Given the description of an element on the screen output the (x, y) to click on. 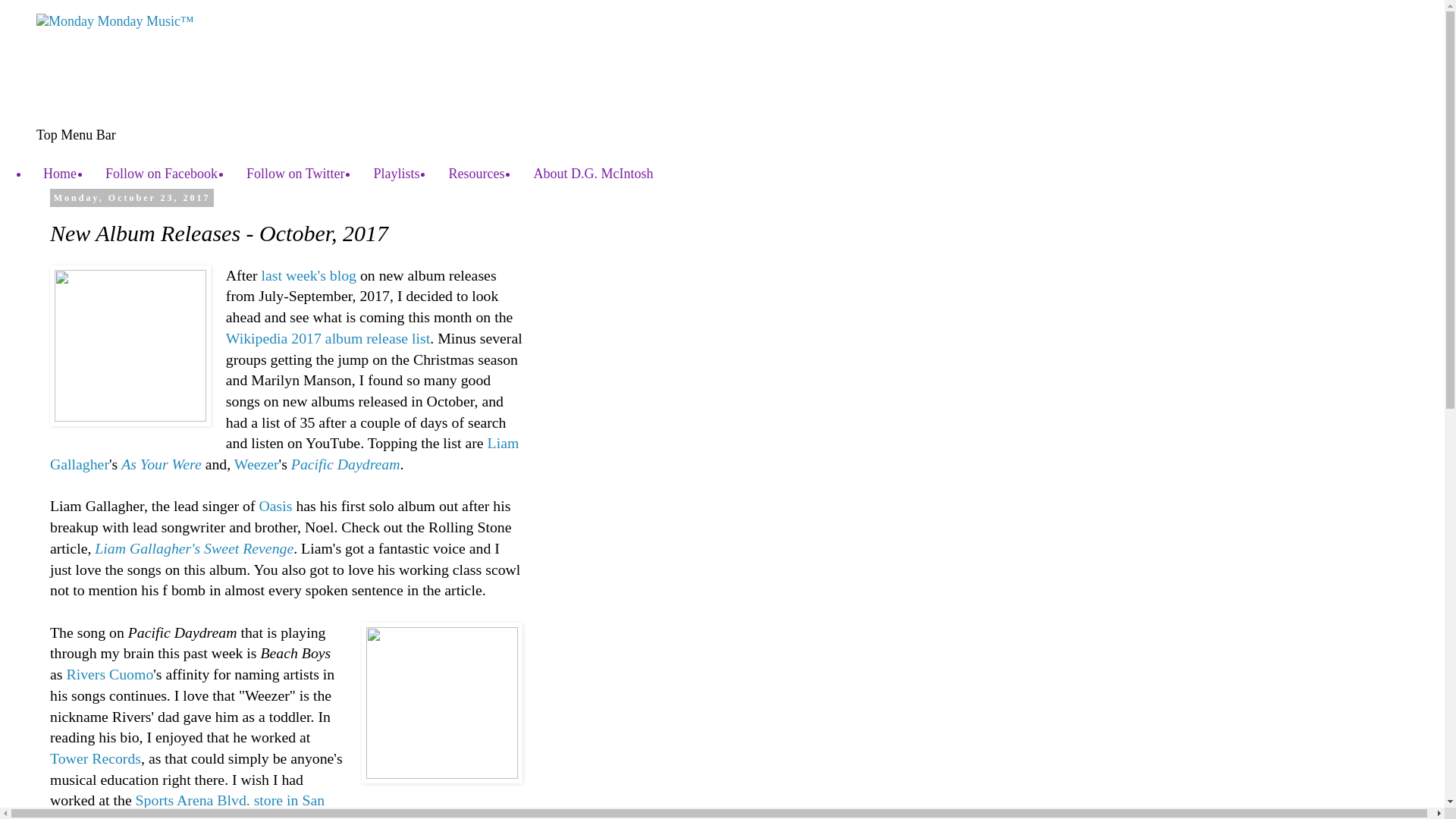
About D.G. McIntosh (592, 174)
Pacific Daydream (345, 463)
Weezer (256, 463)
As Your Were (161, 463)
Sports Arena Blvd. store in San Diego (186, 805)
Liam Gallagher's Sweet Revenge (194, 547)
Wikipedia 2017 album release list (327, 338)
Playlists (395, 174)
Resources (475, 174)
Oasis (275, 505)
Rivers Cuomo (108, 673)
last week's blog (308, 274)
Follow on Facebook (160, 174)
Liam Gallagher (283, 453)
Tower Records (95, 758)
